Given the description of an element on the screen output the (x, y) to click on. 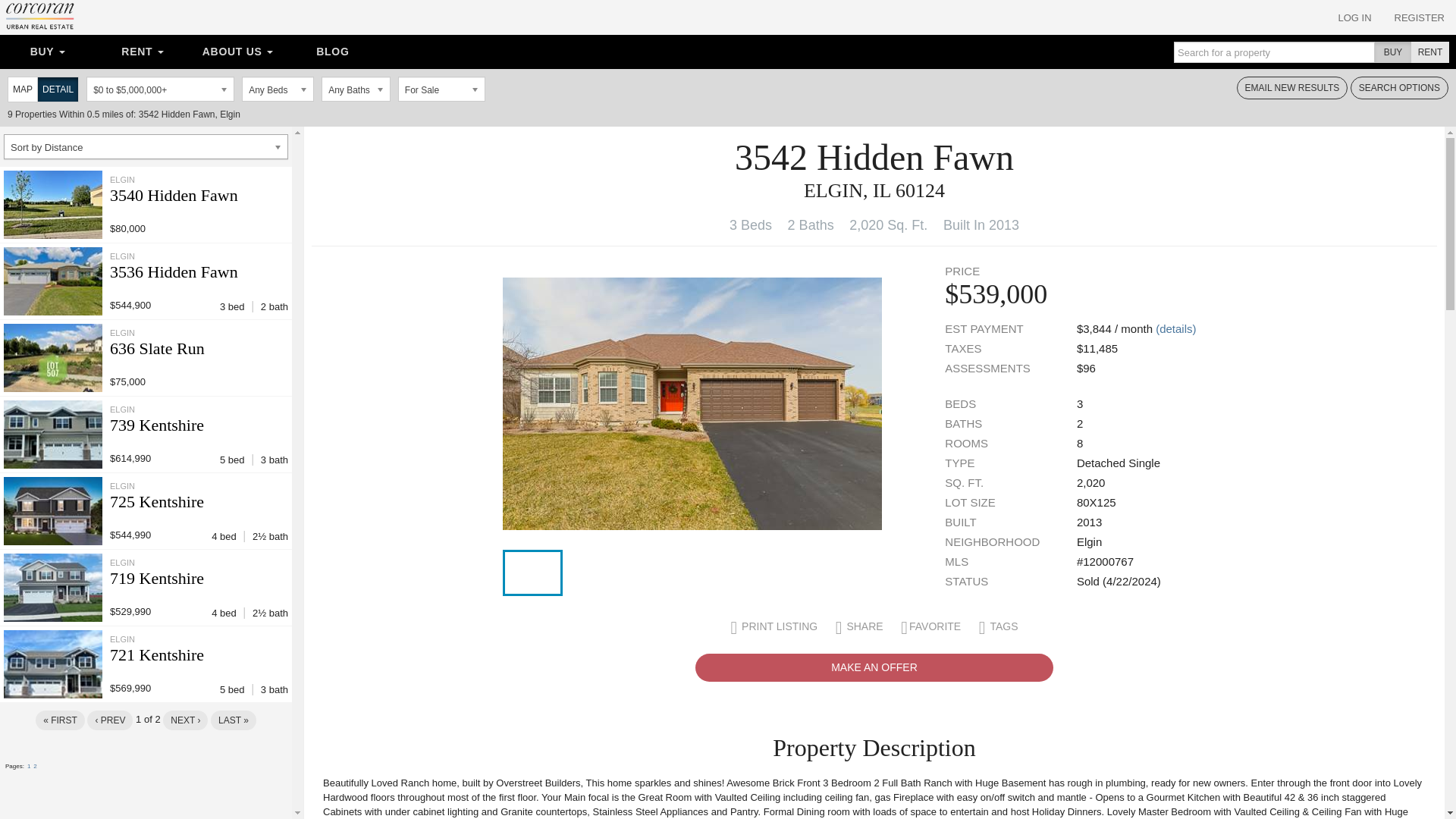
MAP (22, 89)
LOG IN (1353, 17)
BUY (1393, 52)
BUY (47, 51)
RENT (1429, 52)
RENT (141, 51)
ABOUT US (237, 51)
DETAIL (57, 89)
BLOG (332, 51)
